Given the description of an element on the screen output the (x, y) to click on. 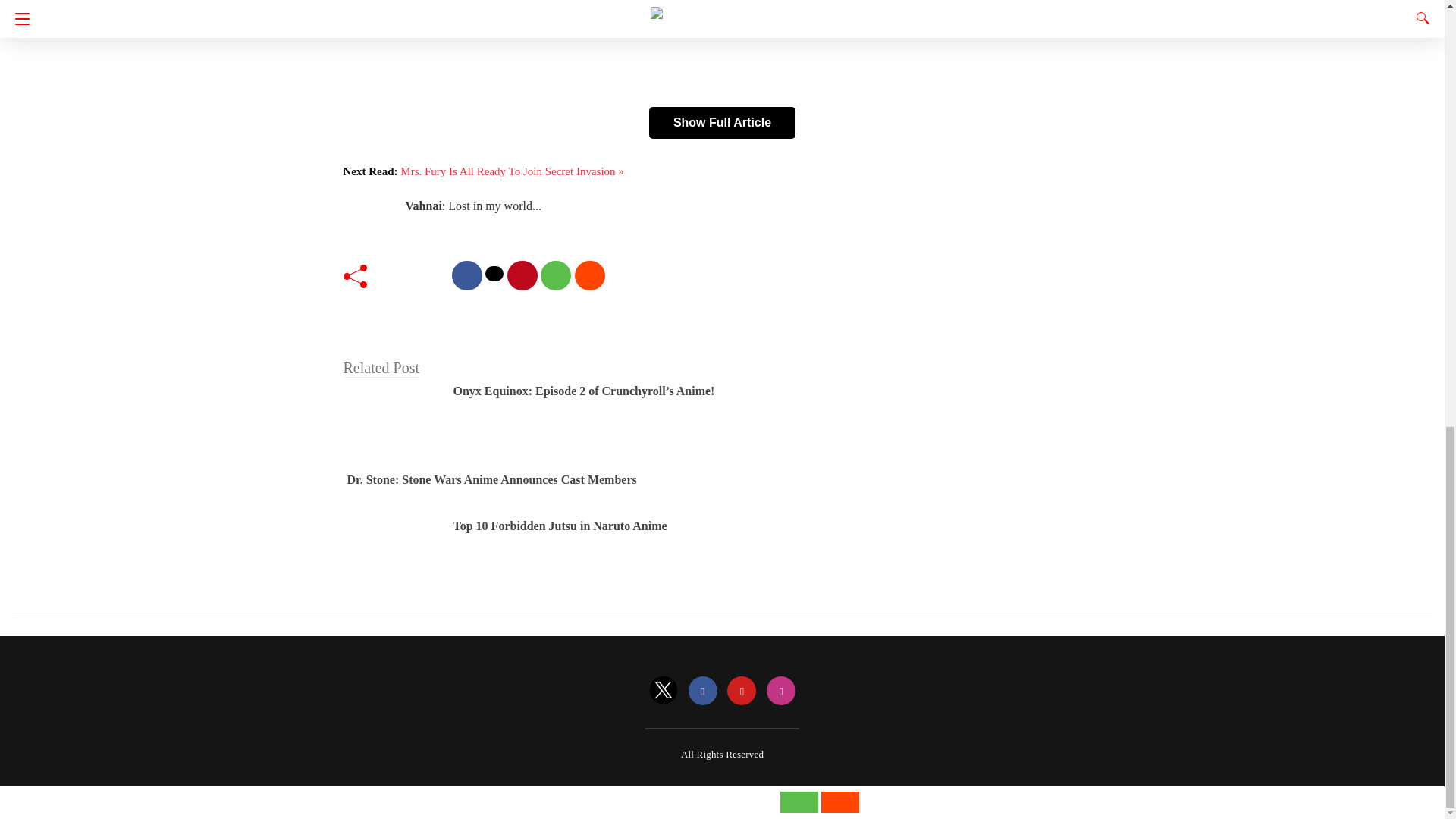
twitter profile (663, 691)
Top 10 Forbidden Jutsu in Naruto Anime (559, 525)
instagram profile (780, 691)
facebook share (466, 275)
facebook profile (702, 691)
Dr. Stone: Stone Wars Anime Announces Cast Members (492, 479)
Show Full Article (721, 122)
youtube profile (740, 691)
twitter share (493, 273)
whatsapp share (555, 275)
Top 10 Forbidden Jutsu in Naruto Anime (559, 525)
reddit share (590, 275)
pinterest share (521, 275)
Dr. Stone: Stone Wars Anime Announces Cast Members (492, 479)
